Given the description of an element on the screen output the (x, y) to click on. 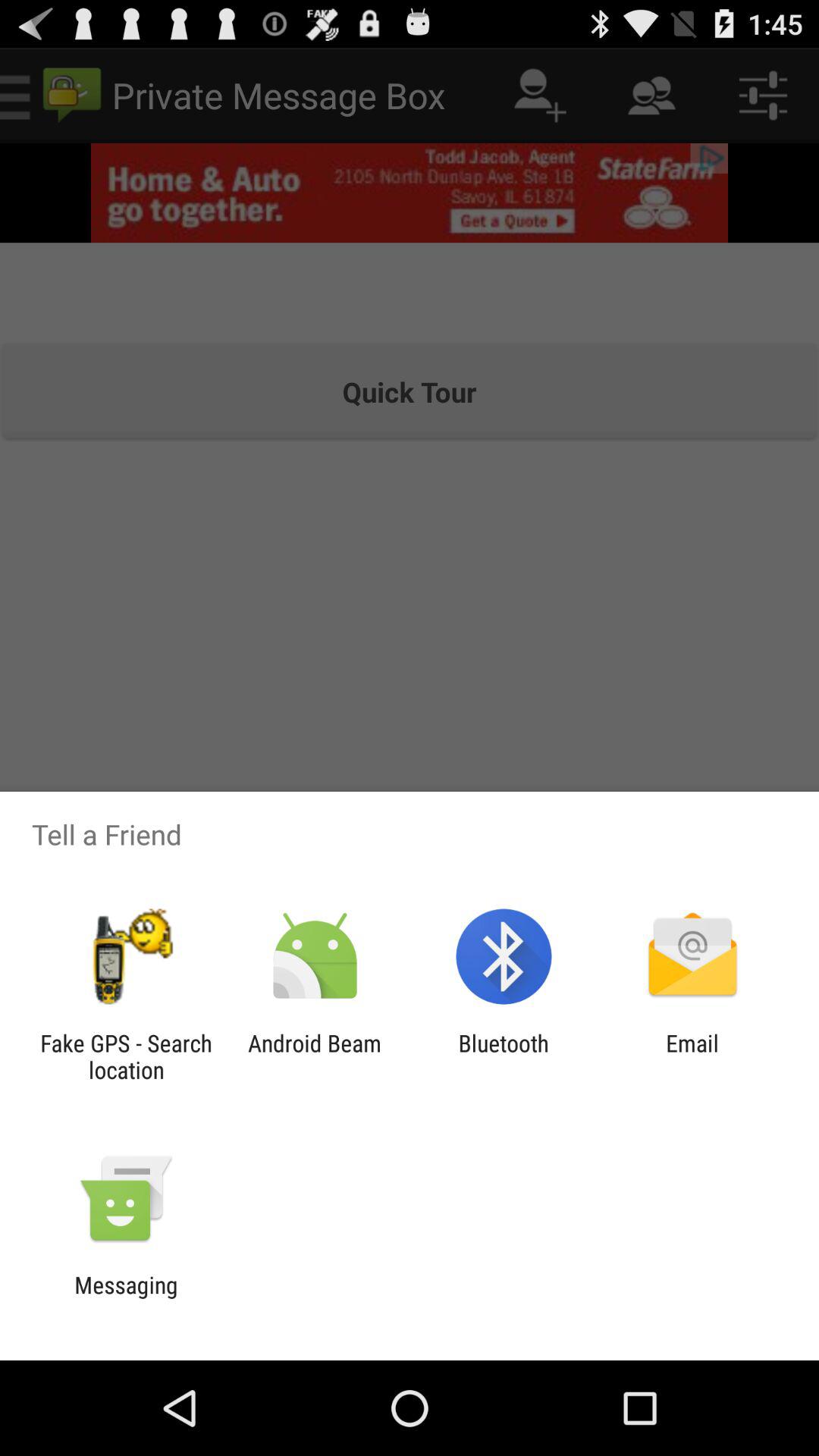
click bluetooth app (503, 1056)
